Given the description of an element on the screen output the (x, y) to click on. 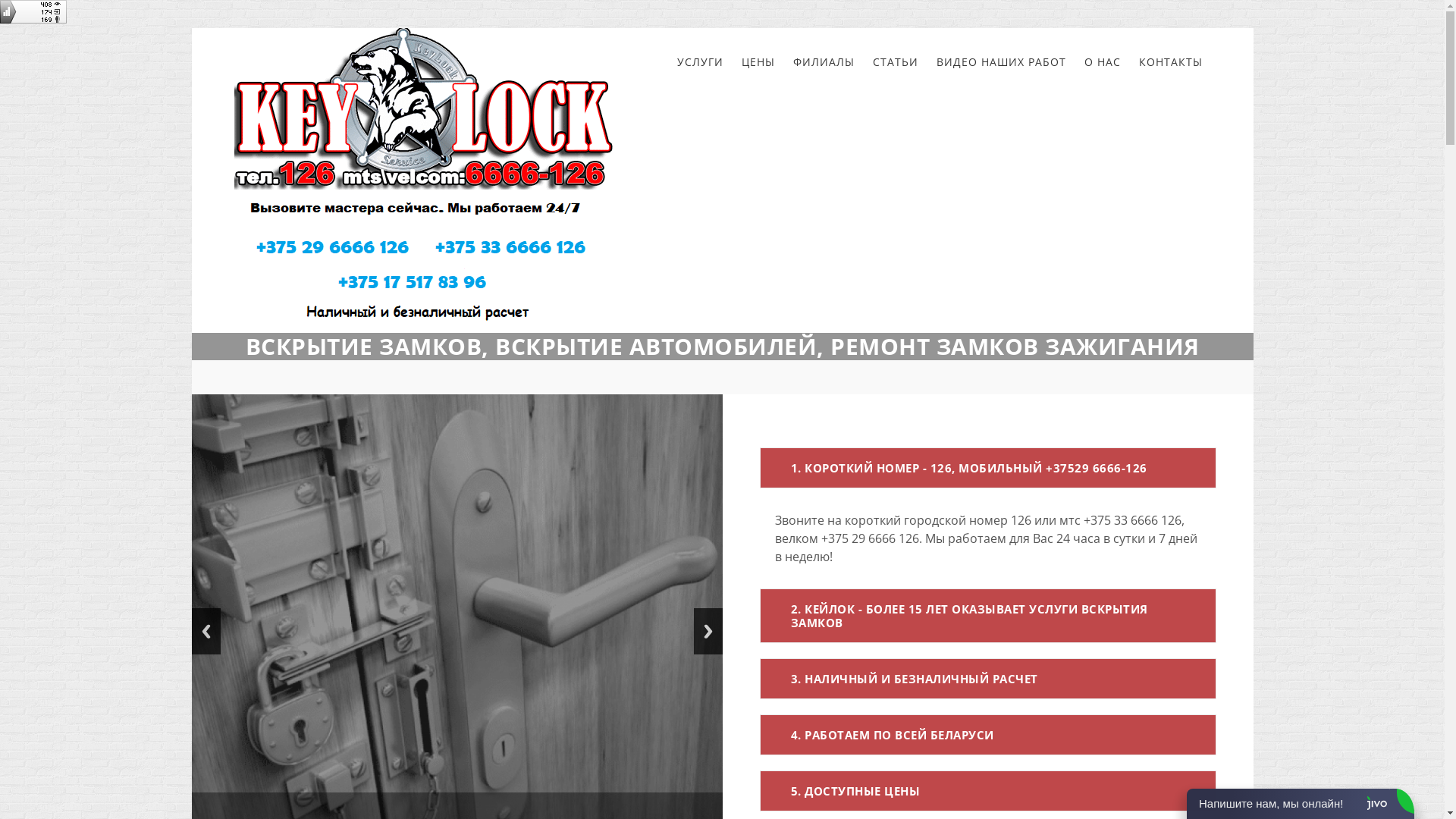
Next Element type: text (707, 631)
Previous Element type: text (205, 631)
